Given the description of an element on the screen output the (x, y) to click on. 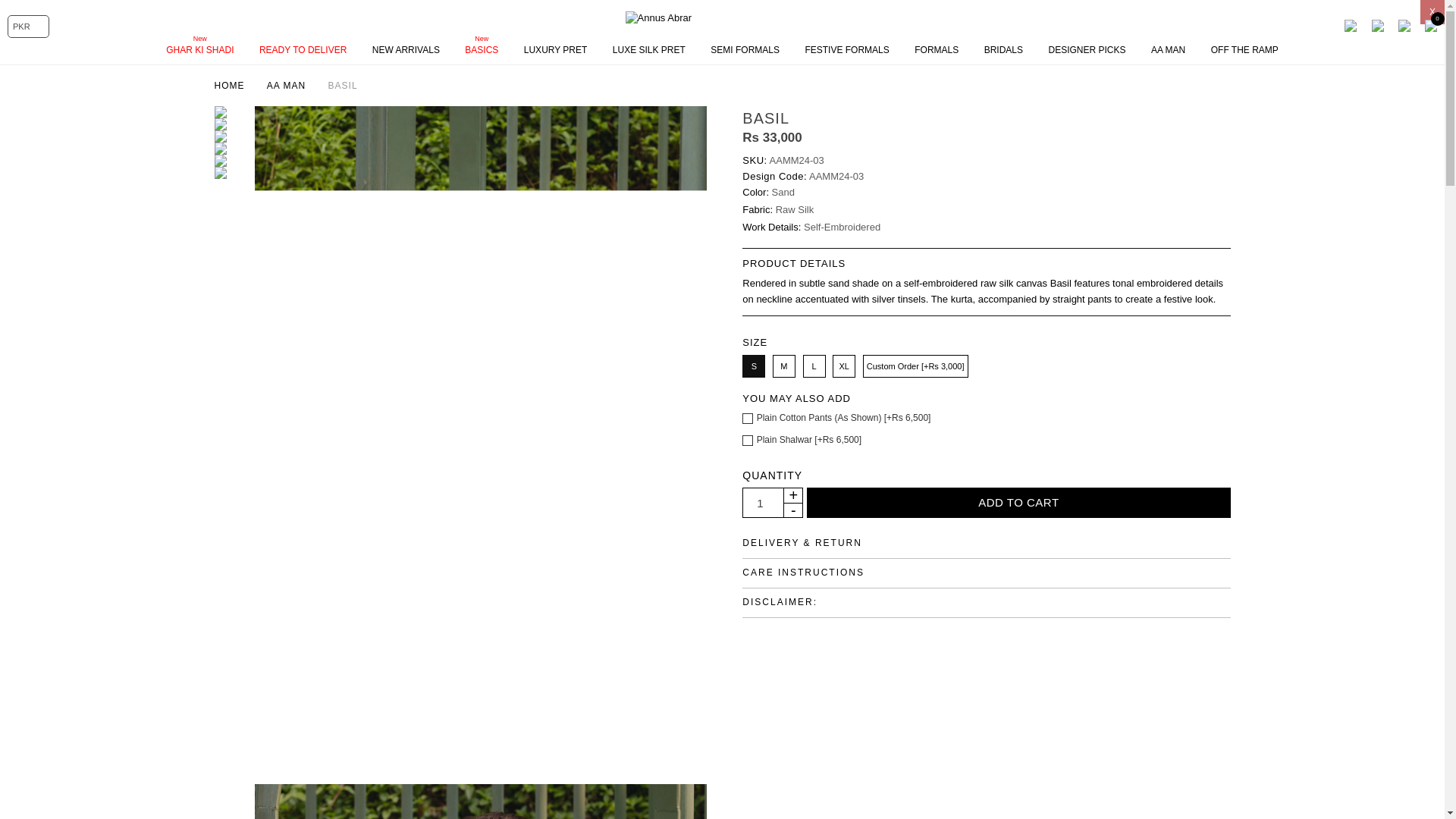
LUXE SILK PRET (649, 50)
AA MAN (1167, 50)
FESTIVE FORMALS (846, 50)
LUXURY PRET (555, 50)
1 (759, 503)
NEW ARRIVALS (405, 50)
Annus Abrar (721, 18)
GHAR KI SHADI (199, 50)
BRIDALS (1003, 50)
FORMALS (936, 50)
